Given the description of an element on the screen output the (x, y) to click on. 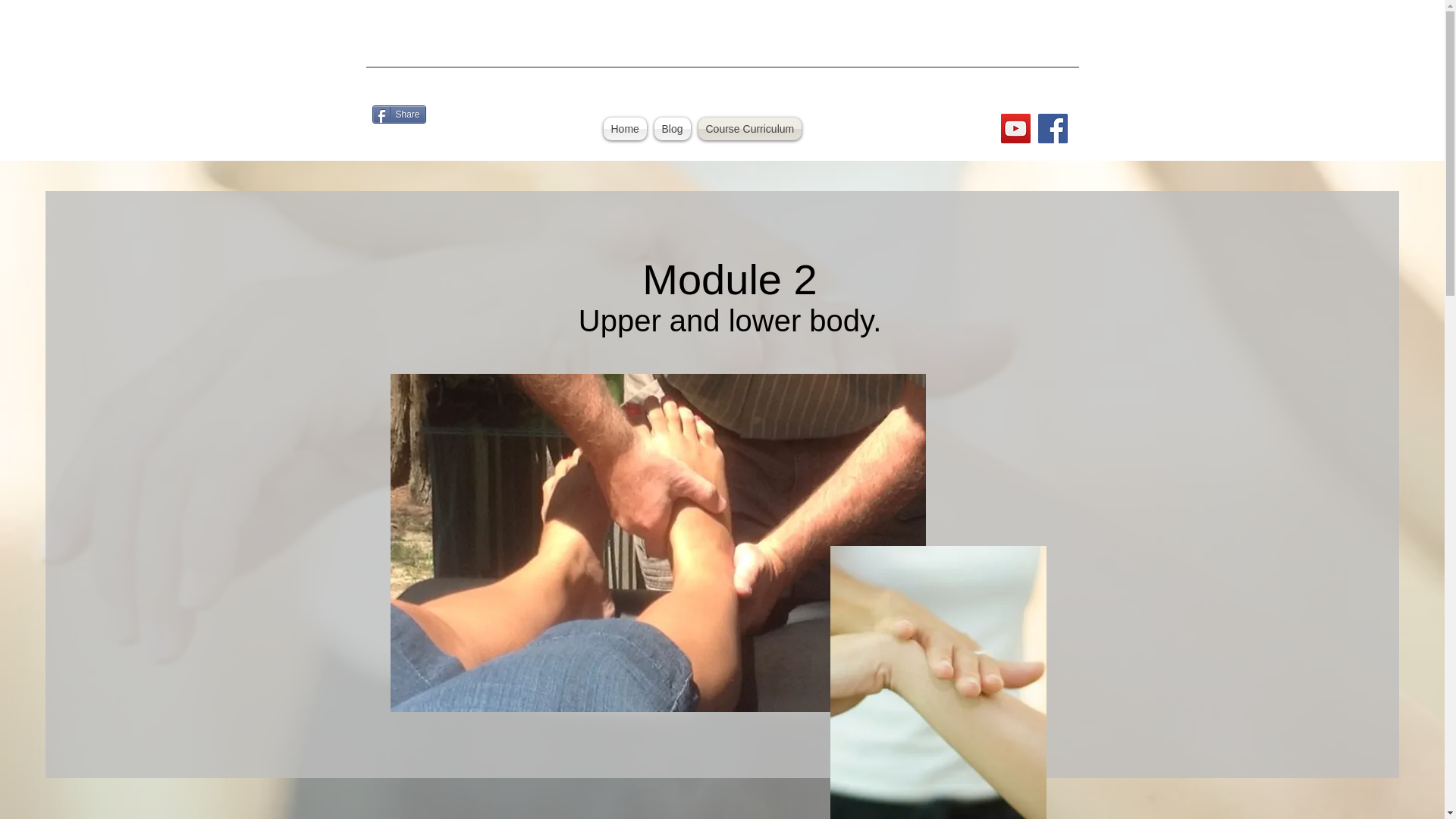
Blog (672, 128)
Course Curriculum (749, 128)
Share (398, 114)
Home (623, 128)
Share (398, 114)
